Given the description of an element on the screen output the (x, y) to click on. 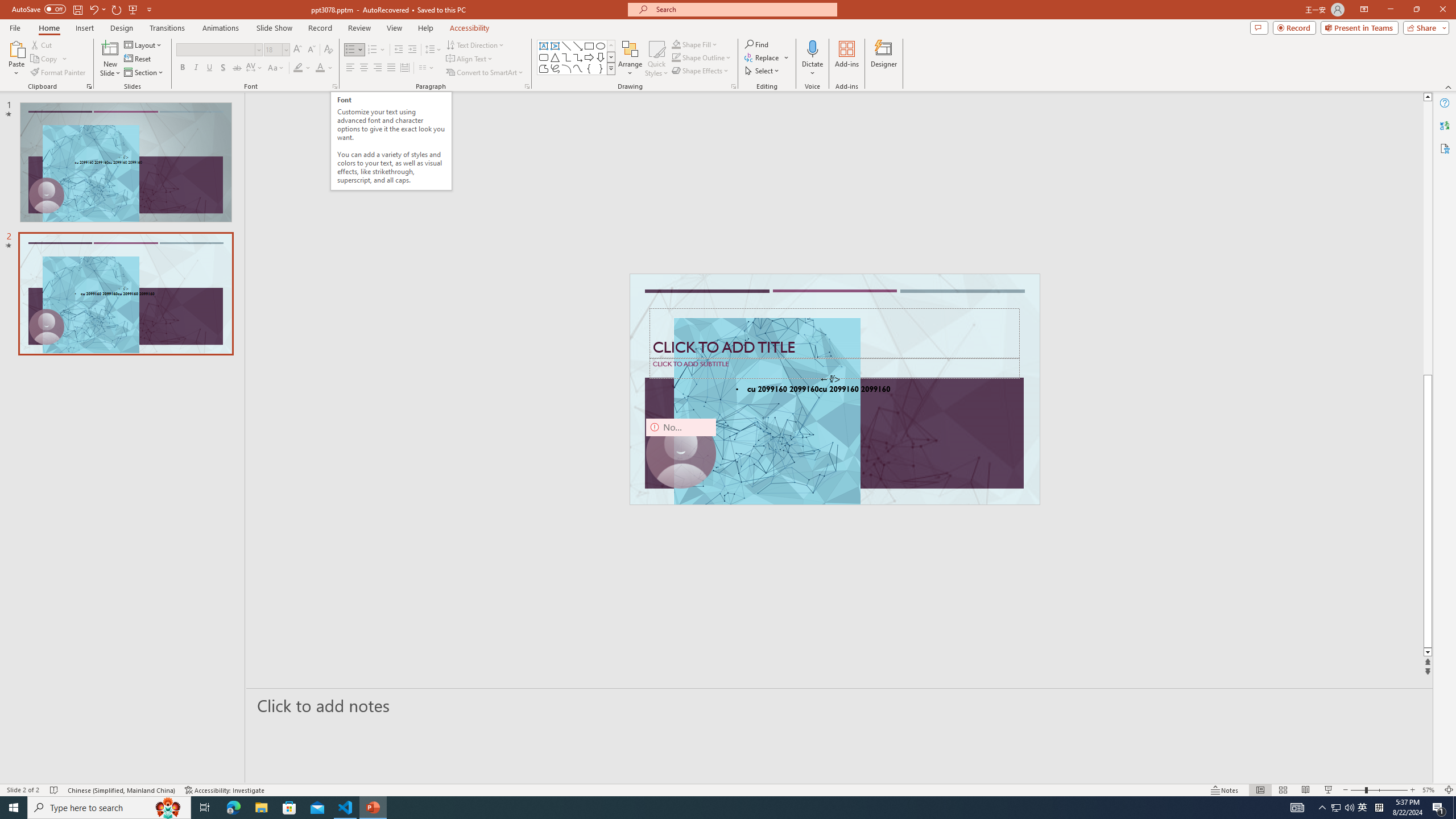
Font (219, 49)
Text Highlight Color (302, 67)
Undo (92, 9)
Convert to SmartArt (485, 72)
Line Spacing (433, 49)
Zoom In (1412, 790)
Bullets (354, 49)
Arrange (630, 58)
Align Left (349, 67)
Arrow: Right (589, 57)
Line down (1427, 652)
Font (215, 49)
More Options (812, 68)
Change Case (276, 67)
Shadow (223, 67)
